Given the description of an element on the screen output the (x, y) to click on. 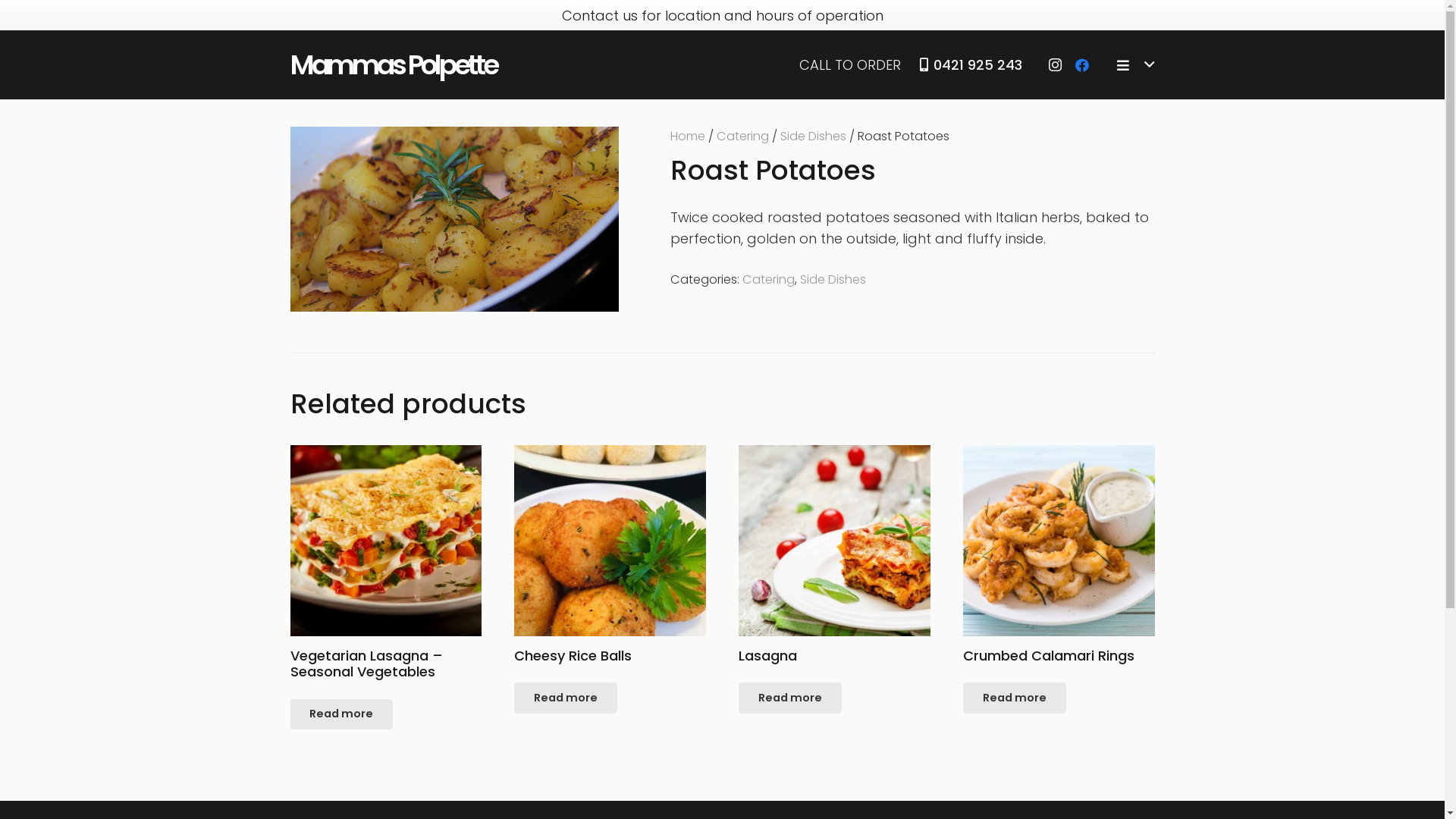
Roasted Potatoes Element type: hover (453, 218)
Read more Element type: text (1014, 697)
Lasagna Element type: text (834, 554)
Read more Element type: text (565, 697)
Catering Element type: text (768, 279)
Read more Element type: text (789, 697)
Mammas Polpette Element type: text (392, 64)
Crumbed Calamari Rings Element type: text (1058, 554)
Home Element type: text (687, 135)
Cheesy Rice Balls Element type: text (610, 554)
Instagram Element type: hover (1054, 64)
Facebook Element type: hover (1081, 64)
0421 925 243 Element type: text (970, 64)
Read more Element type: text (340, 714)
Side Dishes Element type: text (813, 135)
Catering Element type: text (742, 135)
Side Dishes Element type: text (833, 279)
